Given the description of an element on the screen output the (x, y) to click on. 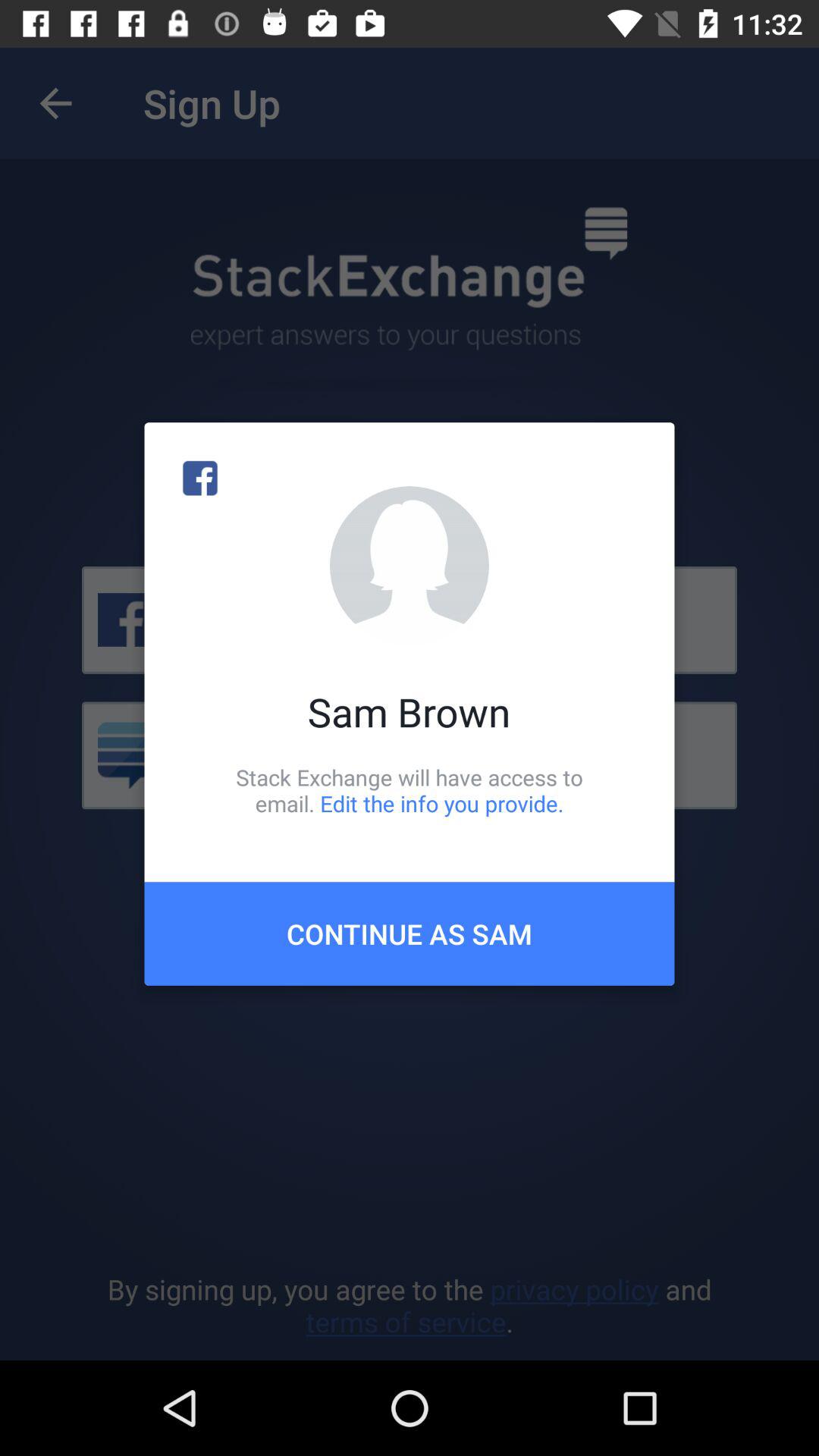
jump until stack exchange will icon (409, 790)
